Given the description of an element on the screen output the (x, y) to click on. 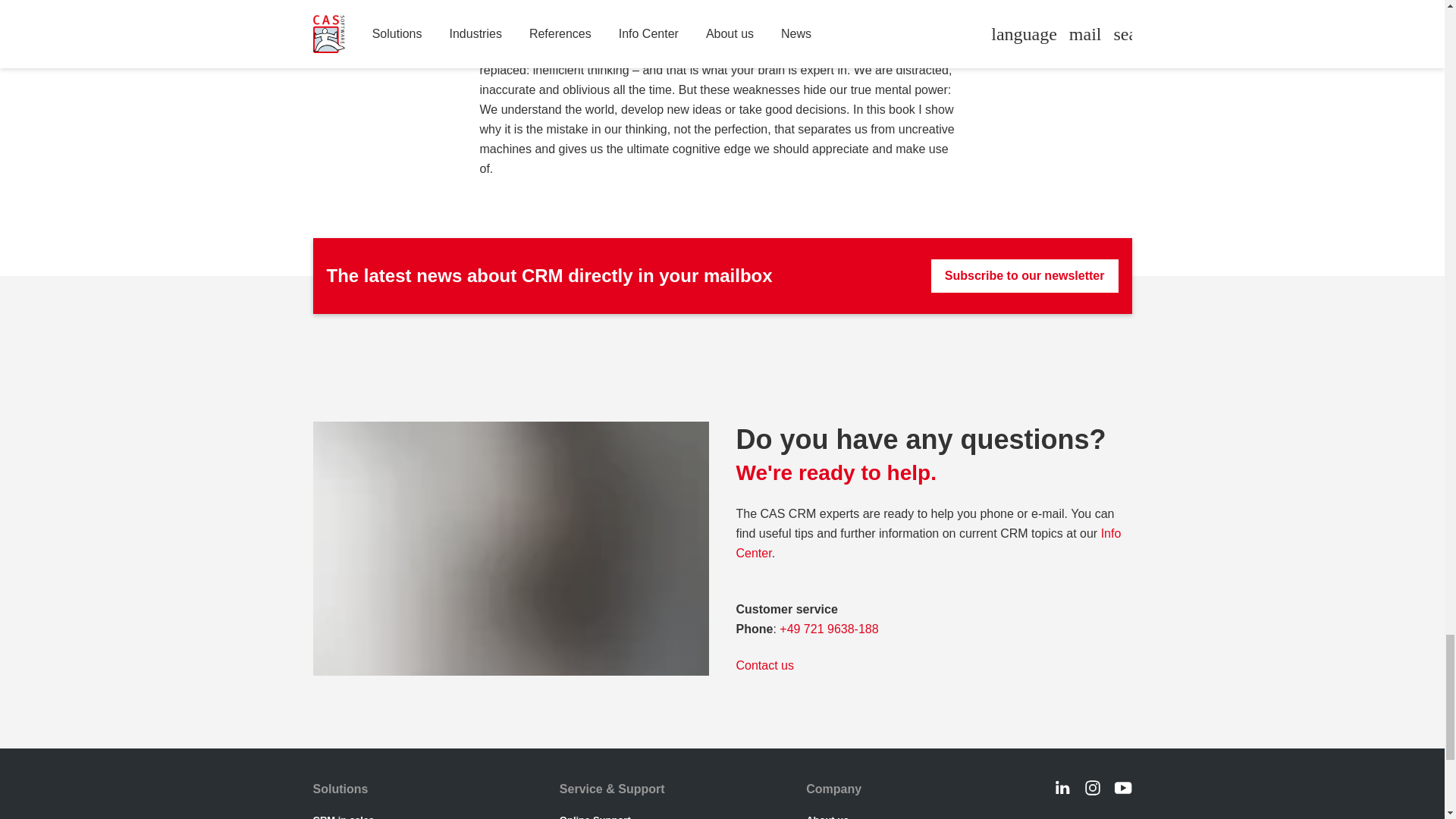
YouTube (1122, 787)
LinkedIn (1061, 787)
Instagram (1091, 787)
